Given the description of an element on the screen output the (x, y) to click on. 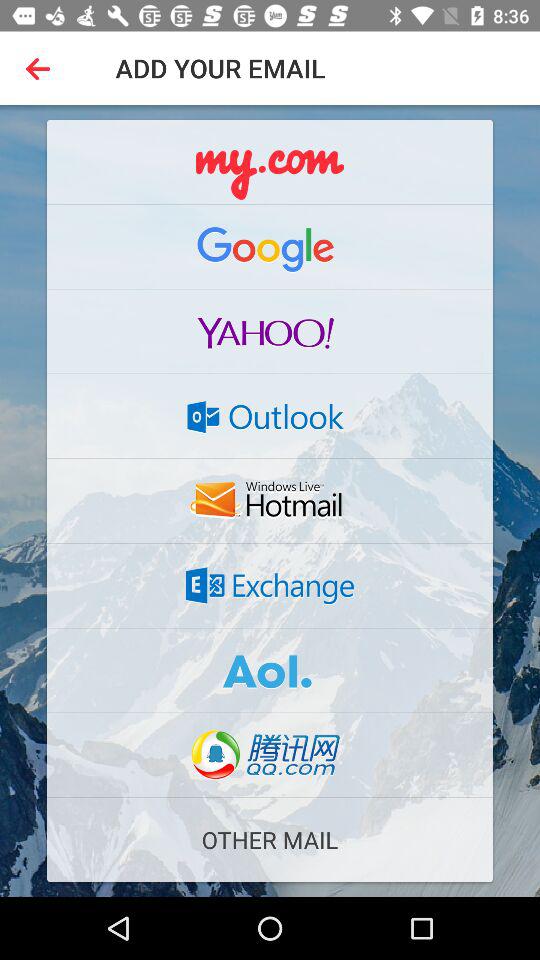
add email (269, 162)
